Given the description of an element on the screen output the (x, y) to click on. 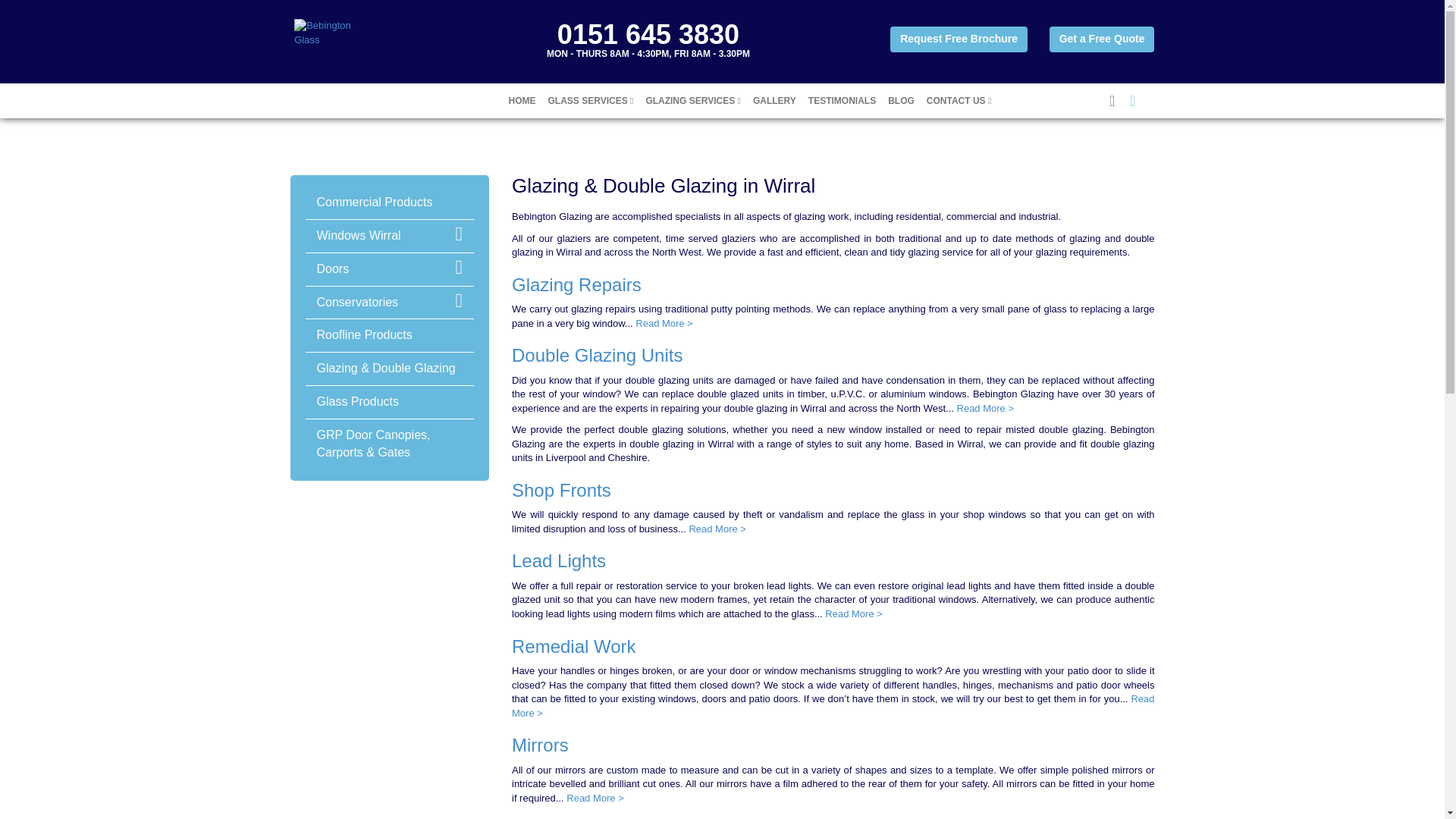
GLAZING SERVICES (692, 100)
GLASS SERVICES (590, 100)
Request Free Brochure (958, 39)
HOME (521, 100)
Get a Free Quote (1101, 39)
